Given the description of an element on the screen output the (x, y) to click on. 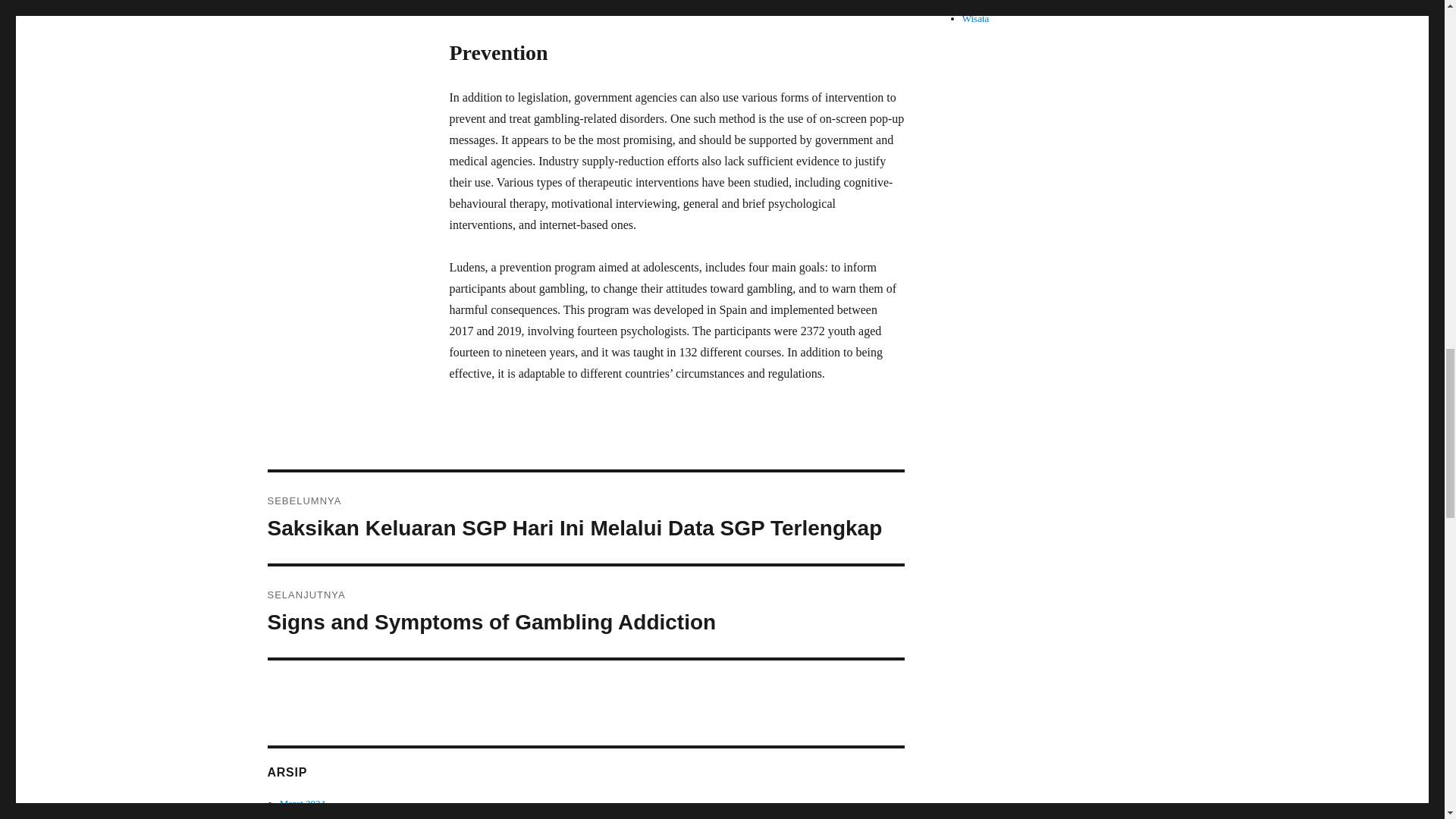
Maret 2024 (301, 803)
Februari 2024 (306, 816)
